Given the description of an element on the screen output the (x, y) to click on. 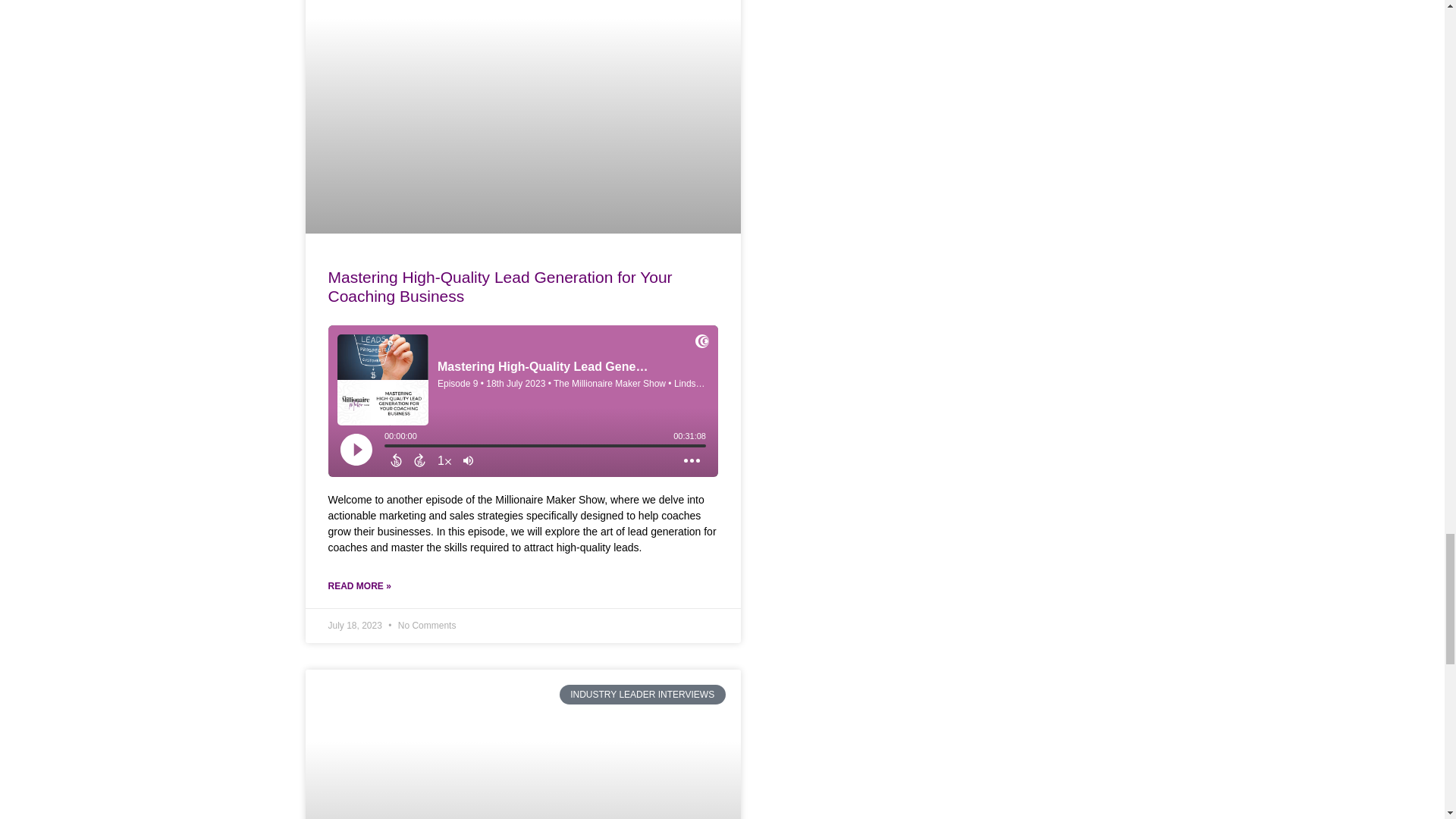
Website Thumbnail The Millionaire Maker Podcast BLOG (518, 743)
Website Thumbnail The Millionaire Maker Podcast 1 1 BLOG (518, 115)
